Given the description of an element on the screen output the (x, y) to click on. 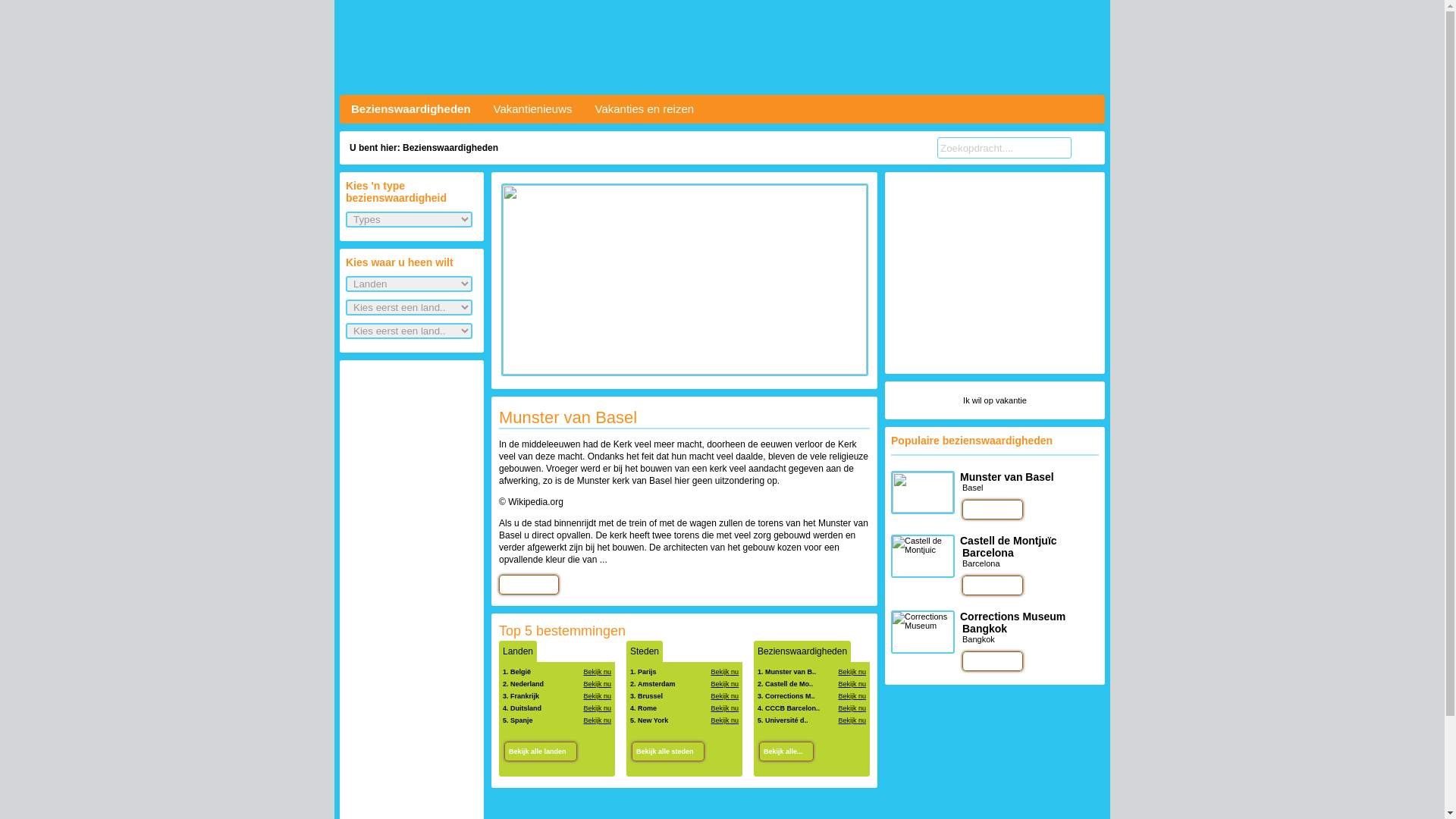
Munster van Basel Element type: text (1007, 476)
Bekijk alle... Element type: text (786, 751)
Bekijk nu Element type: text (724, 720)
Bekijk deze Element type: text (992, 585)
Munster van Basel Element type: hover (683, 371)
Basel Element type: text (972, 487)
Bekijk nu Element type: text (724, 696)
Bekijk nu Element type: text (597, 696)
Advertisement Element type: hover (994, 272)
Bekijk nu Element type: text (597, 720)
Bekijk nu Element type: text (597, 683)
Bekijk nu Element type: text (851, 720)
Bekijk alle steden Element type: text (667, 751)
Bekijk nu Element type: text (851, 683)
Bekijk nu Element type: text (851, 708)
Munster van Basel Element type: text (567, 416)
Bezienswaardigheden.be Element type: text (721, 47)
Bekijk nu Element type: text (724, 671)
Bezienswaardigheden Element type: text (410, 108)
Barcelona Element type: text (981, 562)
Bekijk nu Element type: text (597, 708)
Bekijk nu Element type: text (724, 683)
Bekijk nu Element type: text (851, 671)
Vakanties en reizen Element type: text (644, 108)
Bekijk deze Element type: text (992, 509)
Bekijk nu Element type: text (724, 708)
Ik wil op vakantie Element type: text (994, 399)
Bekijk nu Element type: text (851, 696)
Vakantienieuws Element type: text (532, 108)
Bekijk deze Element type: text (992, 661)
Lees meer Element type: text (528, 584)
Bekijk nu Element type: text (597, 671)
Bangkok Element type: text (978, 638)
Bekijk alle landen Element type: text (540, 751)
Corrections Museum Bangkok Element type: text (1012, 622)
